Given the description of an element on the screen output the (x, y) to click on. 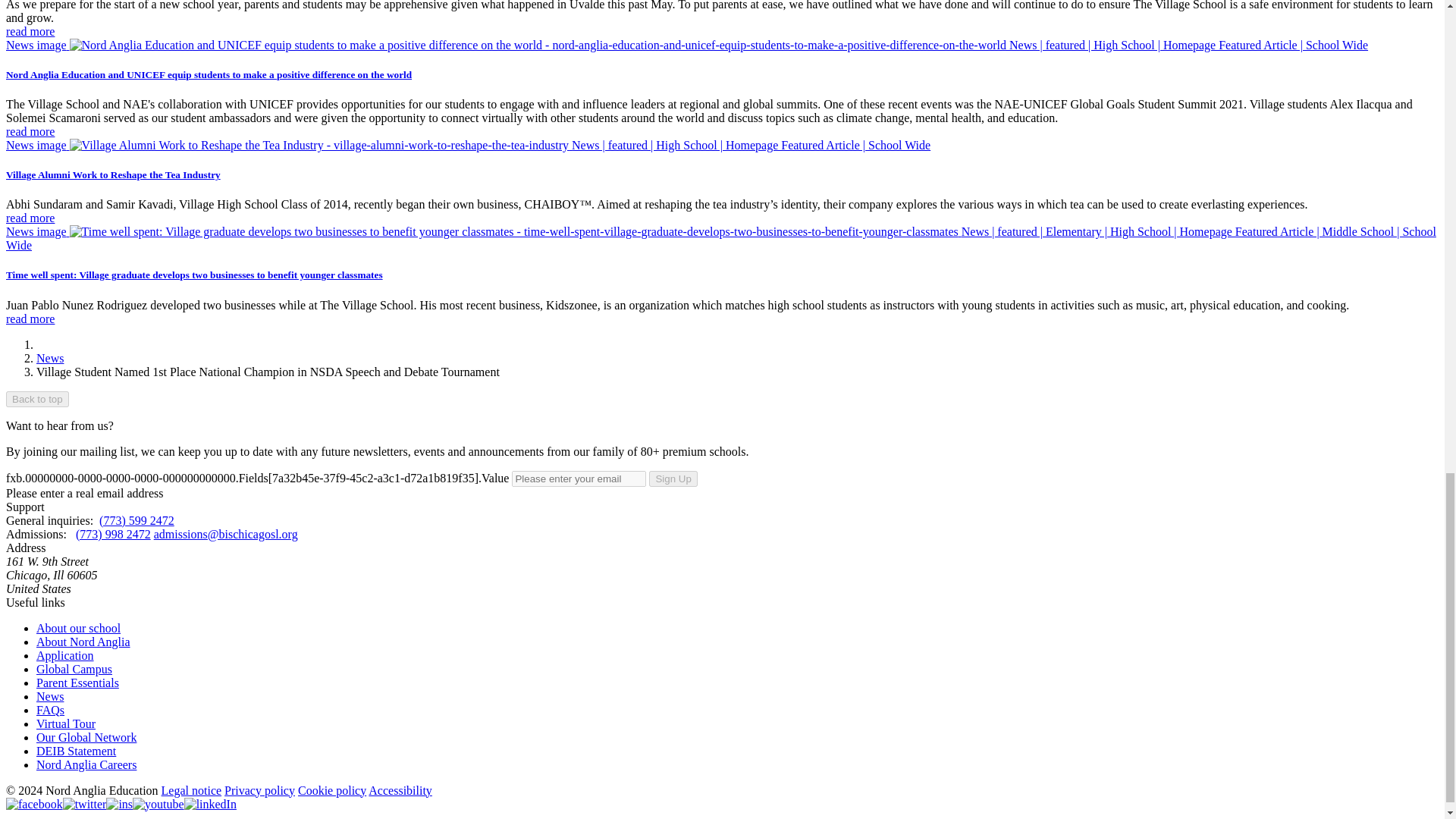
Sign Up (673, 478)
